Given the description of an element on the screen output the (x, y) to click on. 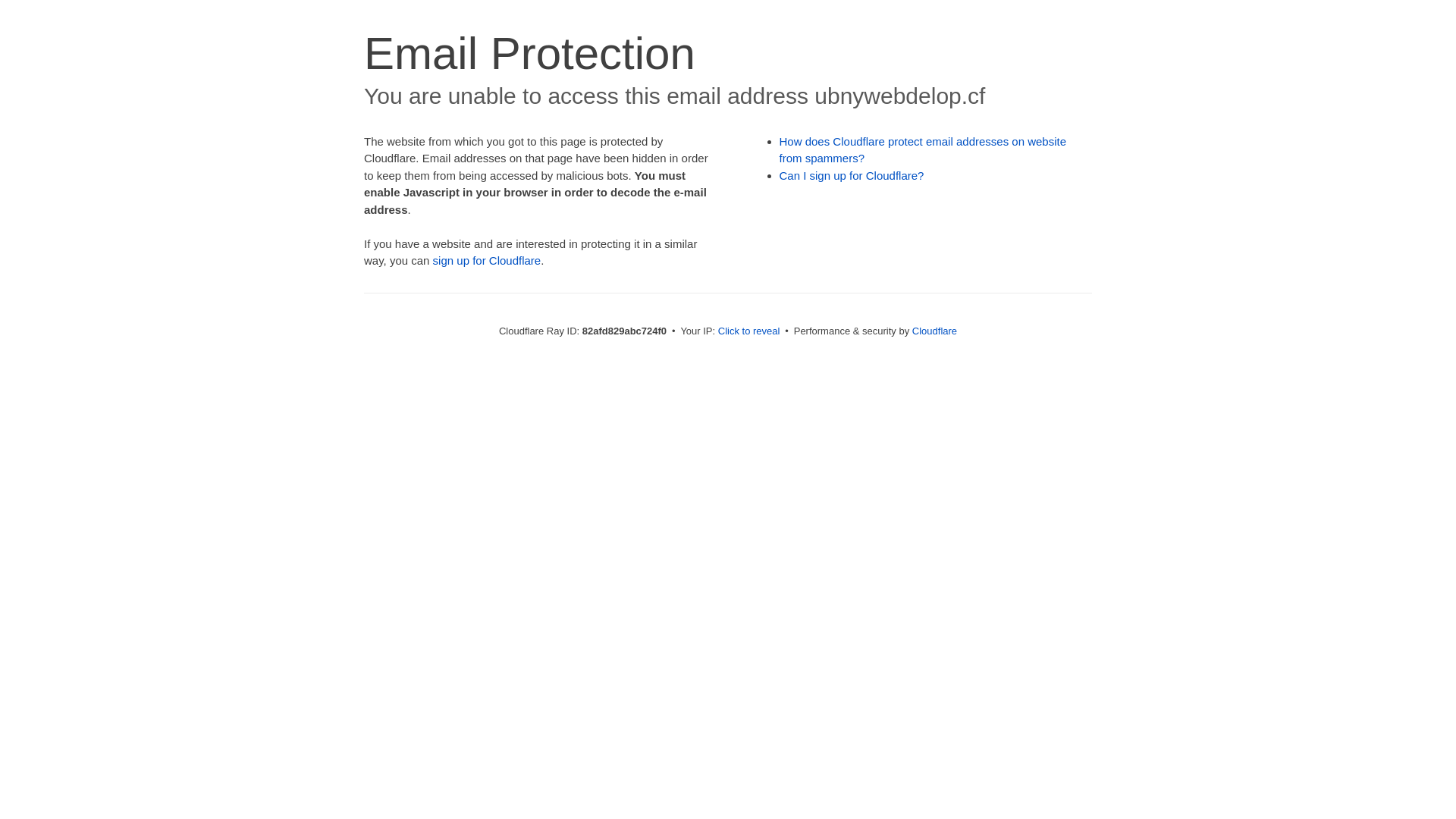
sign up for Cloudflare Element type: text (487, 260)
Cloudflare Element type: text (934, 330)
Click to reveal Element type: text (749, 330)
Can I sign up for Cloudflare? Element type: text (851, 175)
